Given the description of an element on the screen output the (x, y) to click on. 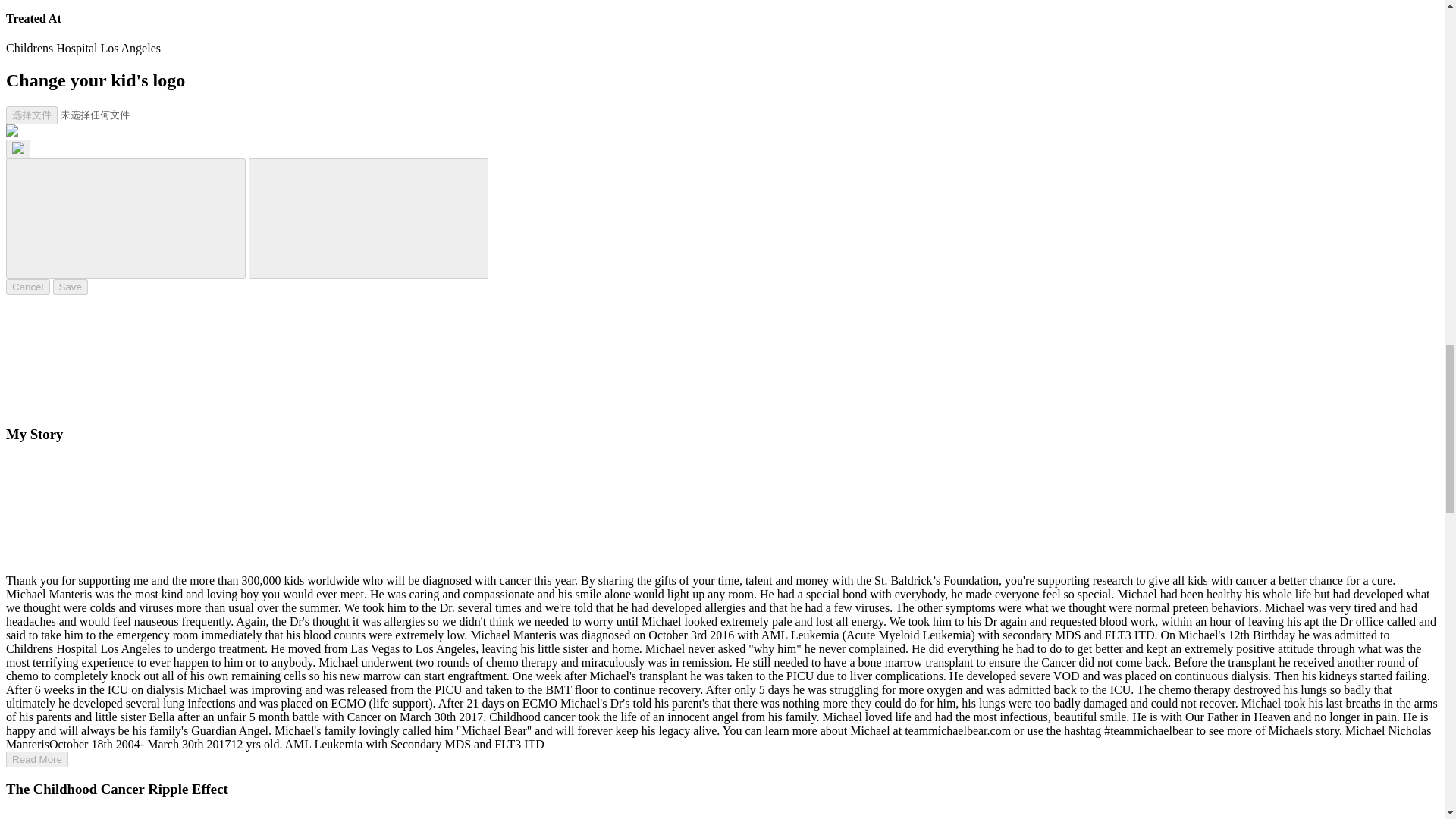
Read More (36, 759)
Cancel (27, 286)
Save (69, 286)
